Given the description of an element on the screen output the (x, y) to click on. 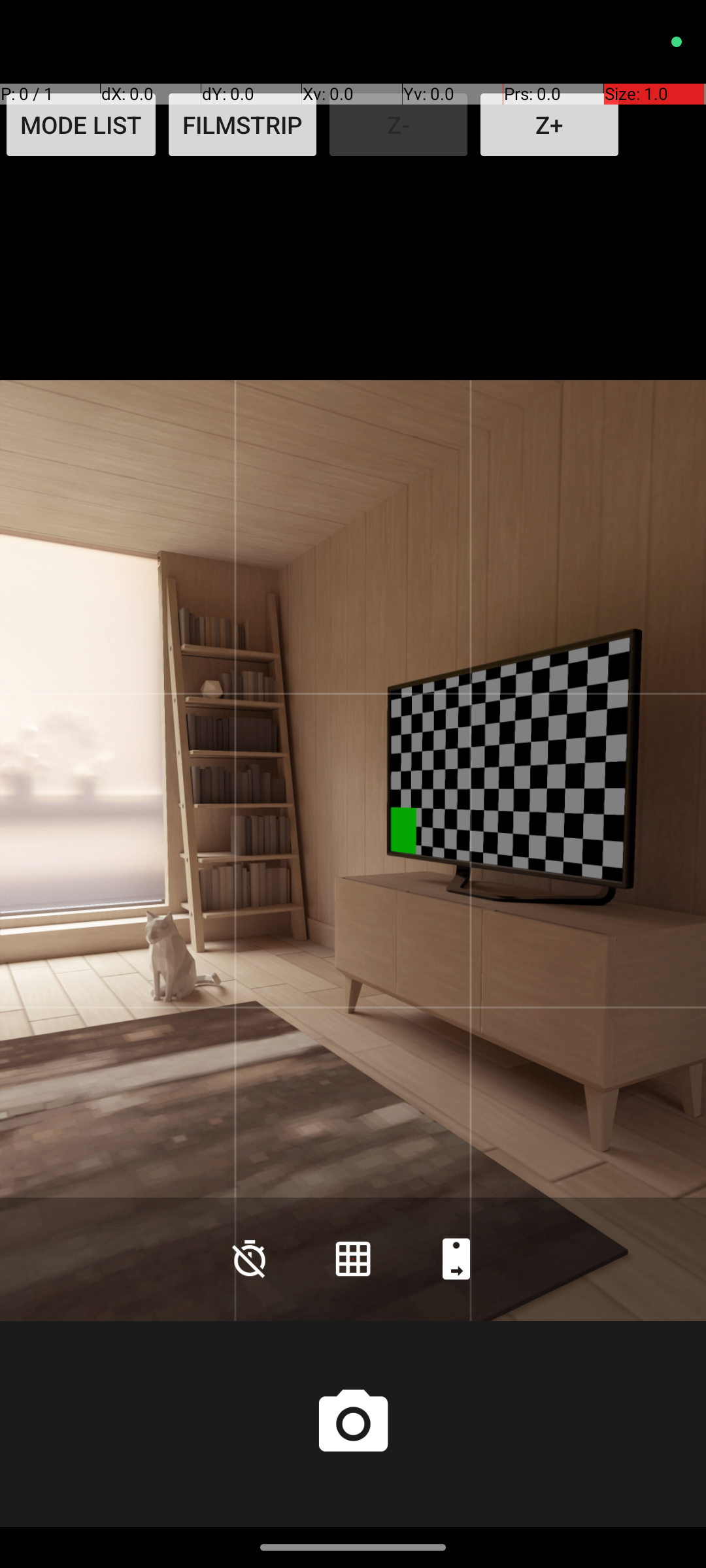
Shutter Element type: android.widget.ImageView (353, 1423)
MODE LIST Element type: android.widget.Button (81, 124)
FILMSTRIP Element type: android.widget.Button (242, 124)
Z- Element type: android.widget.Button (397, 124)
Z+ Element type: android.widget.Button (548, 124)
Countdown timer is off Element type: android.widget.ImageButton (249, 1258)
Grid lines on Element type: android.widget.ImageButton (352, 1258)
Back camera Element type: android.widget.ImageButton (456, 1258)
